Given the description of an element on the screen output the (x, y) to click on. 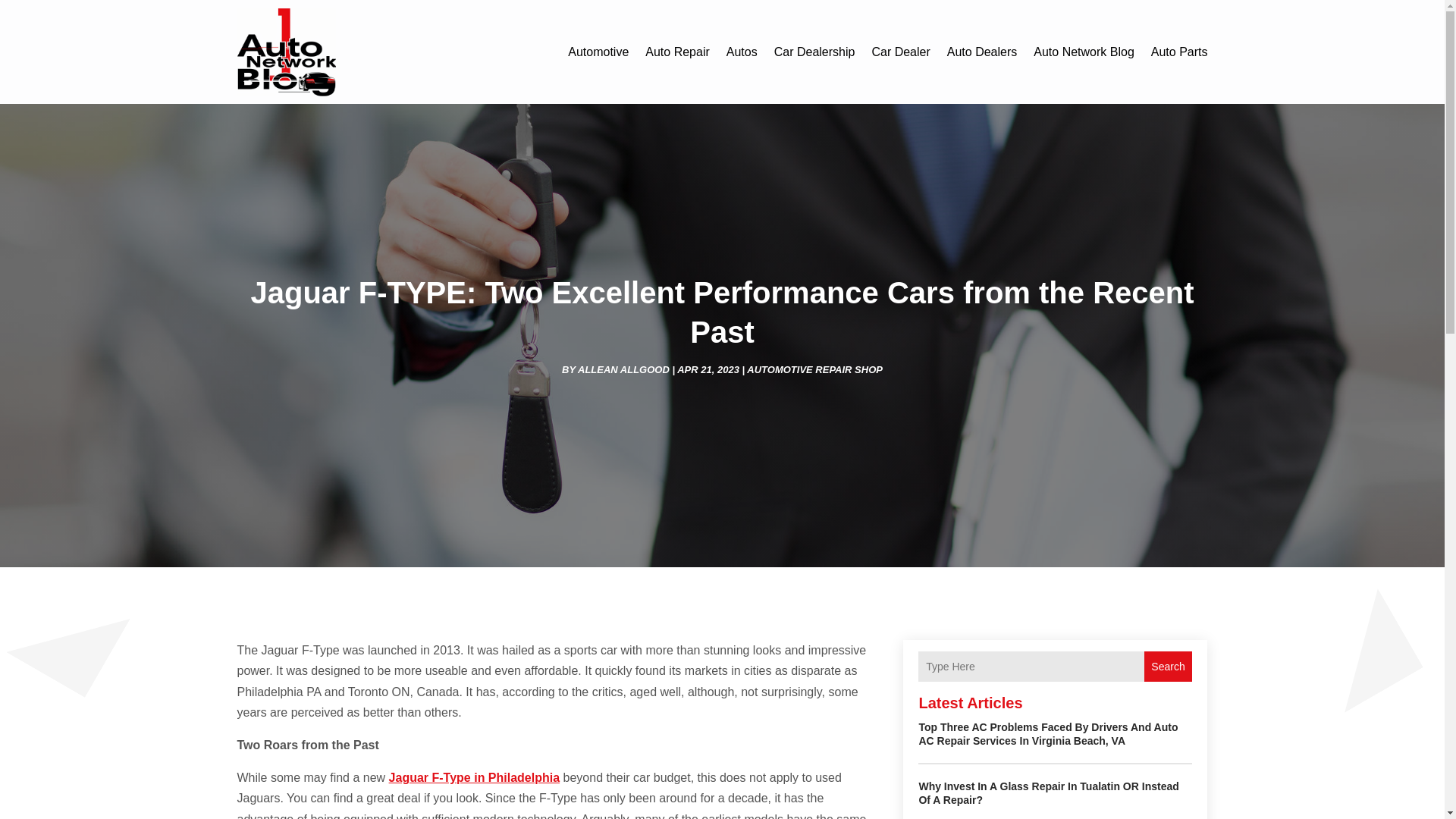
Search (1168, 666)
Car Dealership (815, 51)
Jaguar F-Type in Philadelphia (474, 777)
ALLEAN ALLGOOD (623, 369)
Posts by Allean Allgood (623, 369)
AUTOMOTIVE REPAIR SHOP (814, 369)
Auto Network Blog (1083, 51)
